Given the description of an element on the screen output the (x, y) to click on. 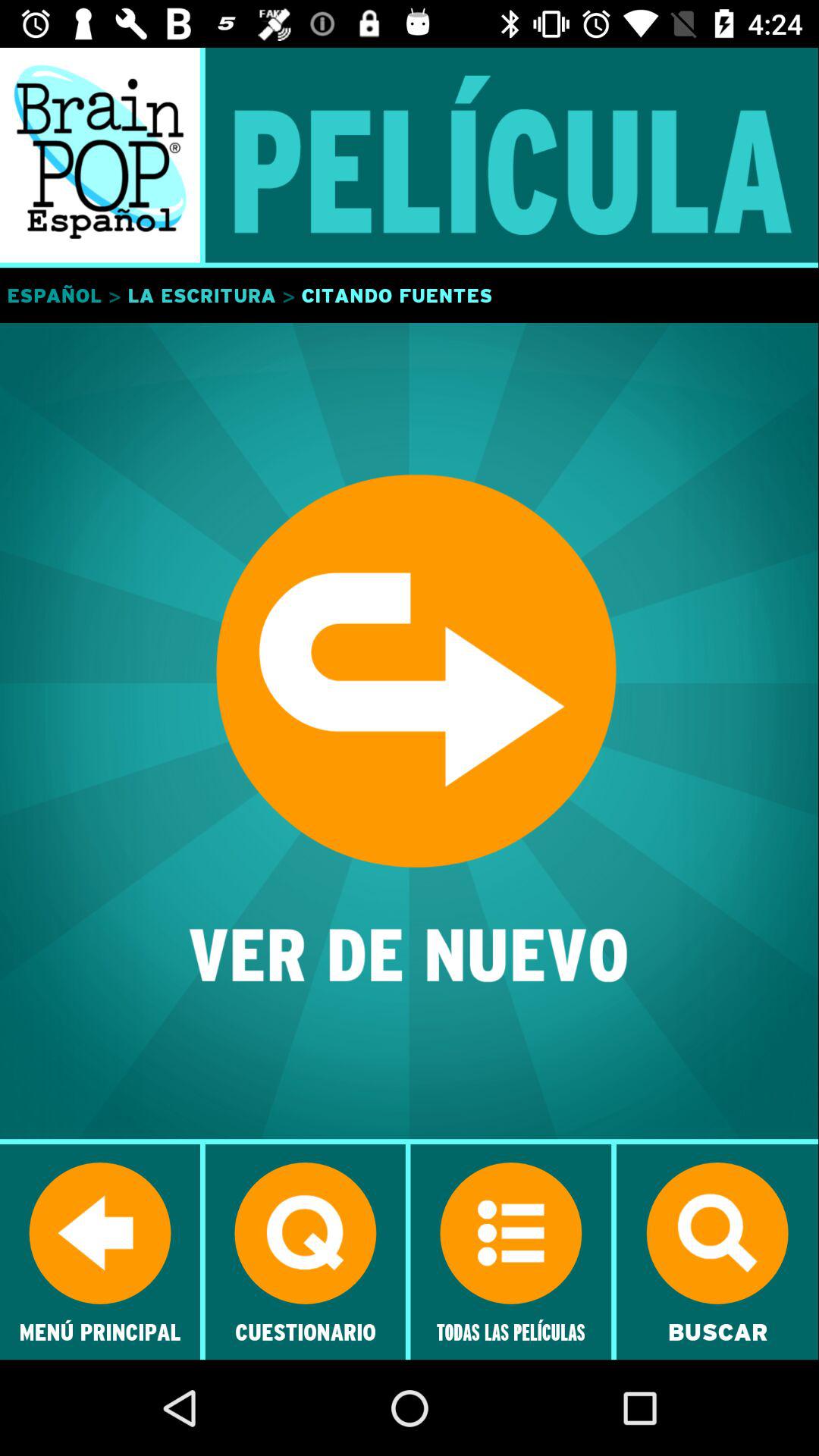
watch again option (409, 732)
